Given the description of an element on the screen output the (x, y) to click on. 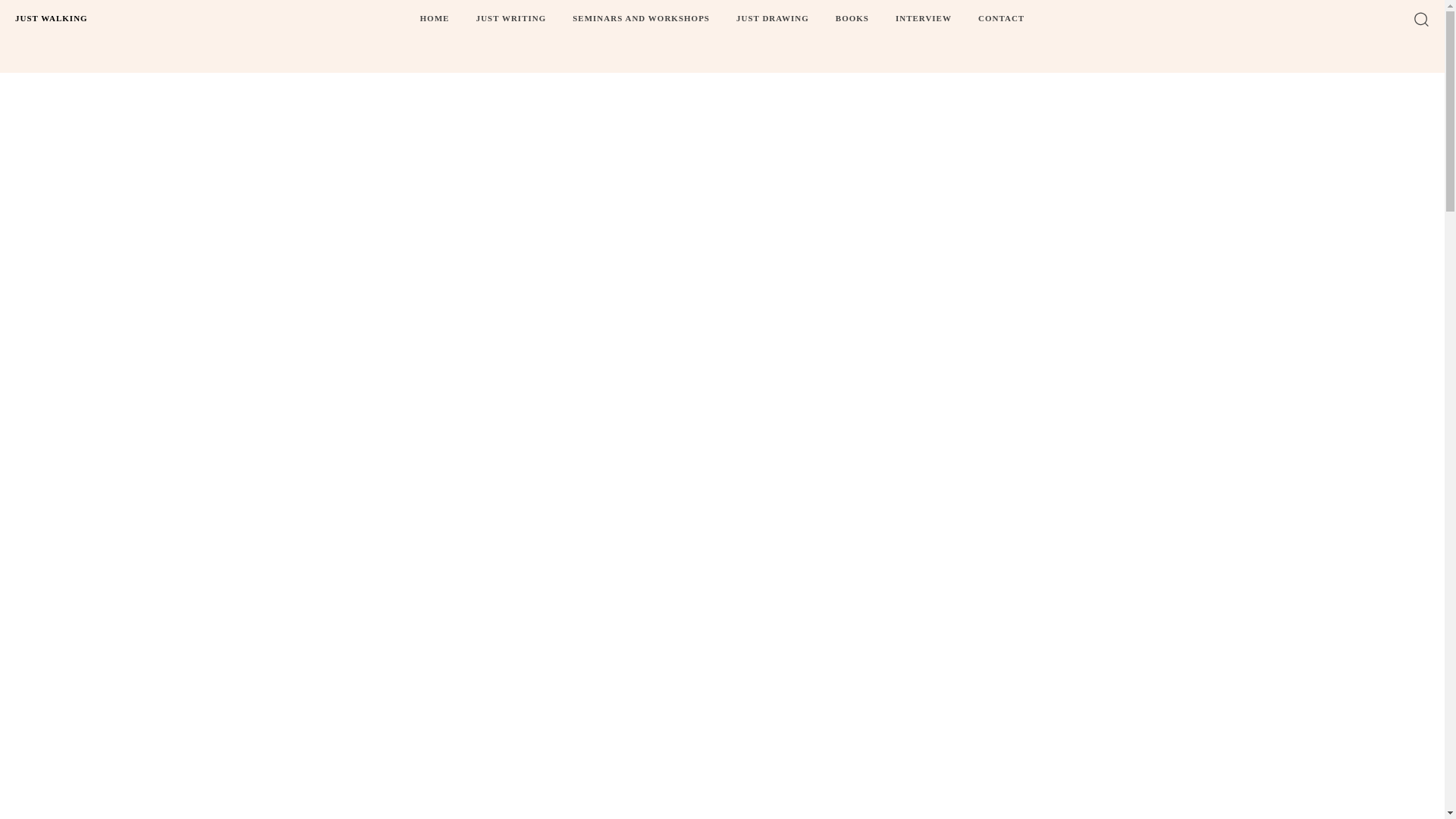
SEMINARS AND WORKSHOPS (640, 18)
JUST WALKING (51, 18)
JUST WRITING (511, 18)
HOME (434, 18)
